Given the description of an element on the screen output the (x, y) to click on. 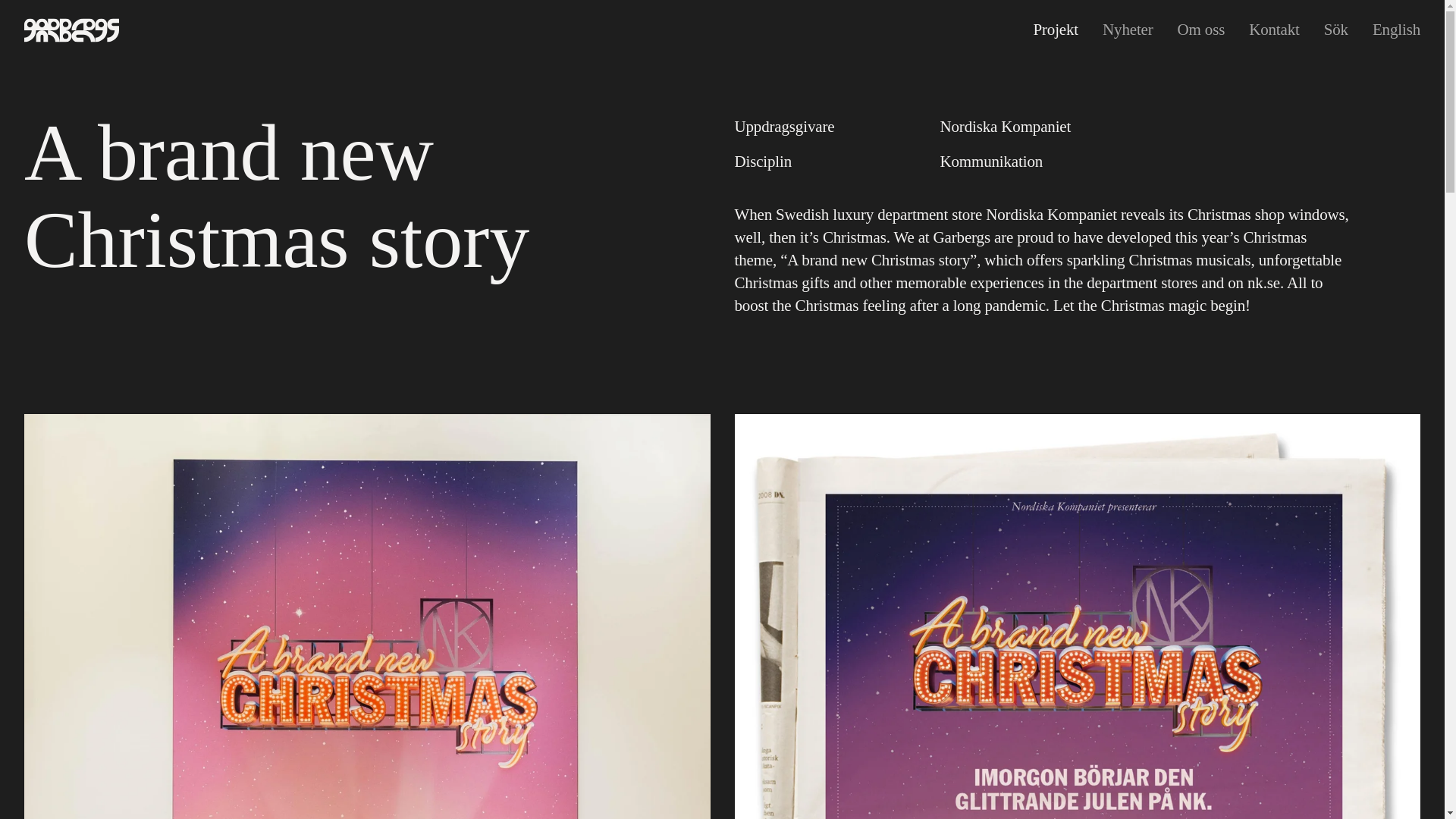
nk.se (1263, 282)
Kontakt (1274, 29)
Nyheter (1127, 29)
Om oss (1201, 29)
English (1397, 29)
Projekt (1055, 29)
Kommunikation (990, 161)
